Given the description of an element on the screen output the (x, y) to click on. 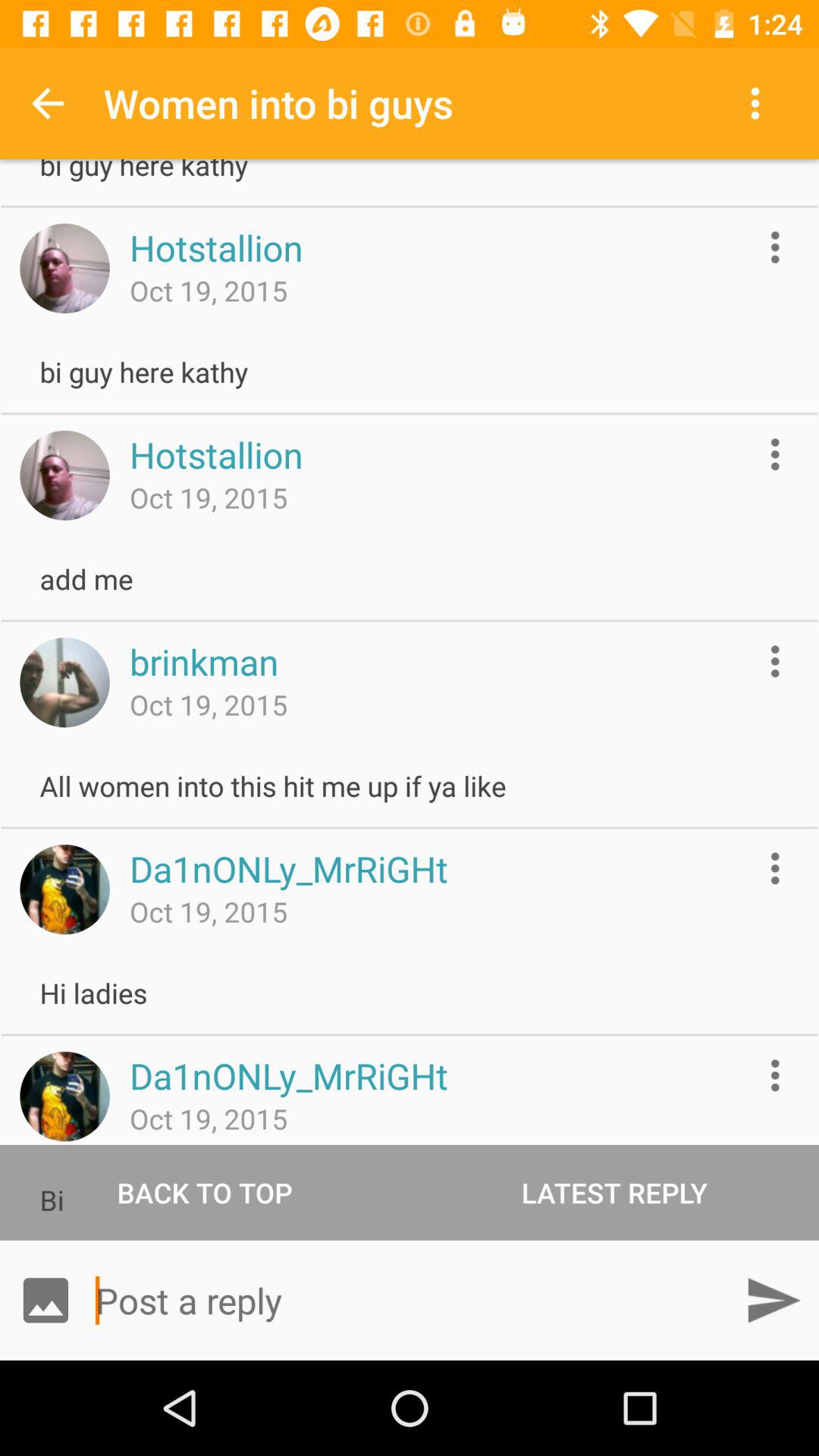
more (775, 247)
